Given the description of an element on the screen output the (x, y) to click on. 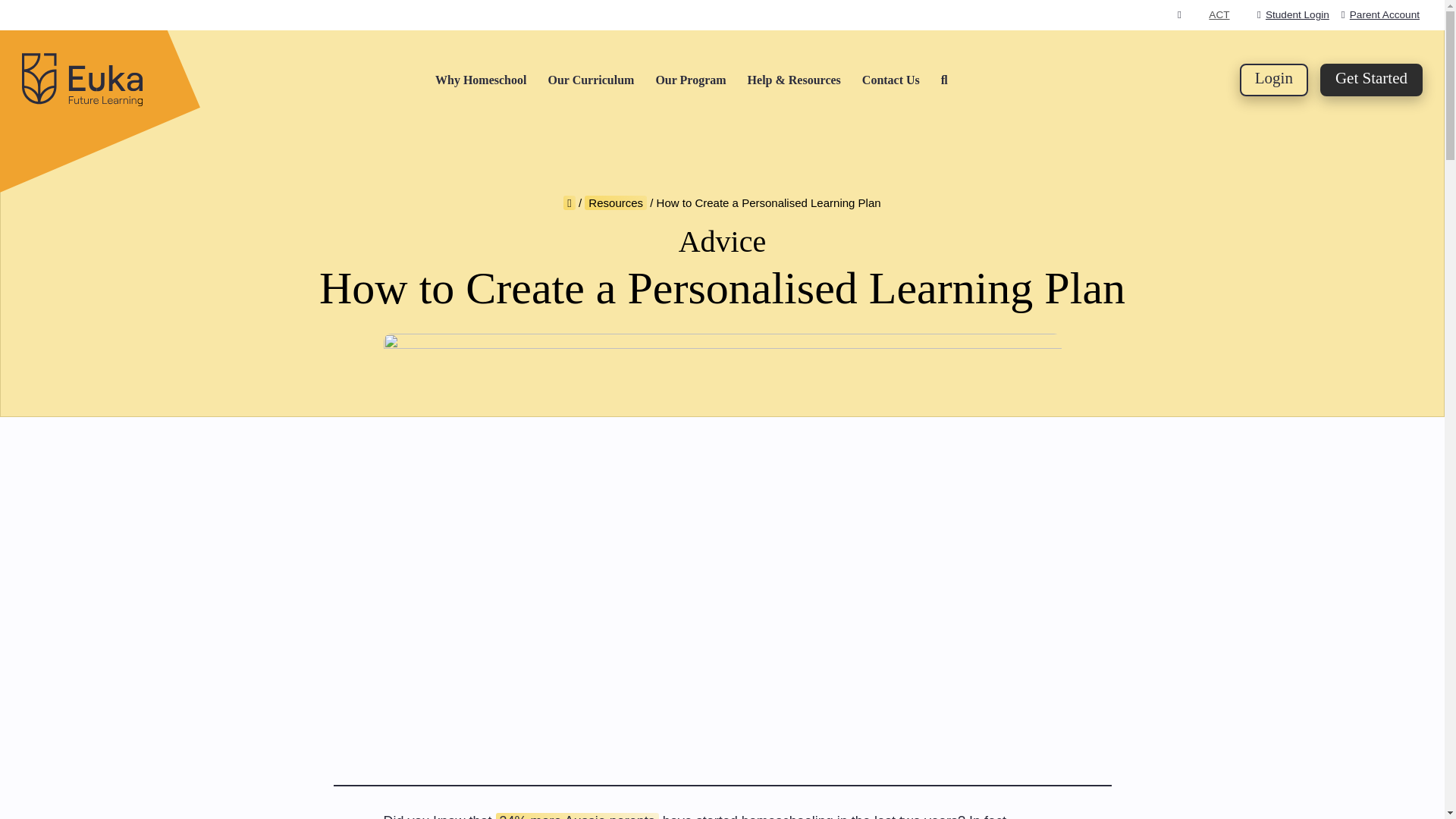
Why Homeschool (480, 80)
Our Curriculum (590, 80)
Get Started (1371, 79)
Our Program (690, 80)
Student Login (1293, 14)
Parent Account (1379, 14)
Login (1273, 79)
Contact Us (890, 80)
